Given the description of an element on the screen output the (x, y) to click on. 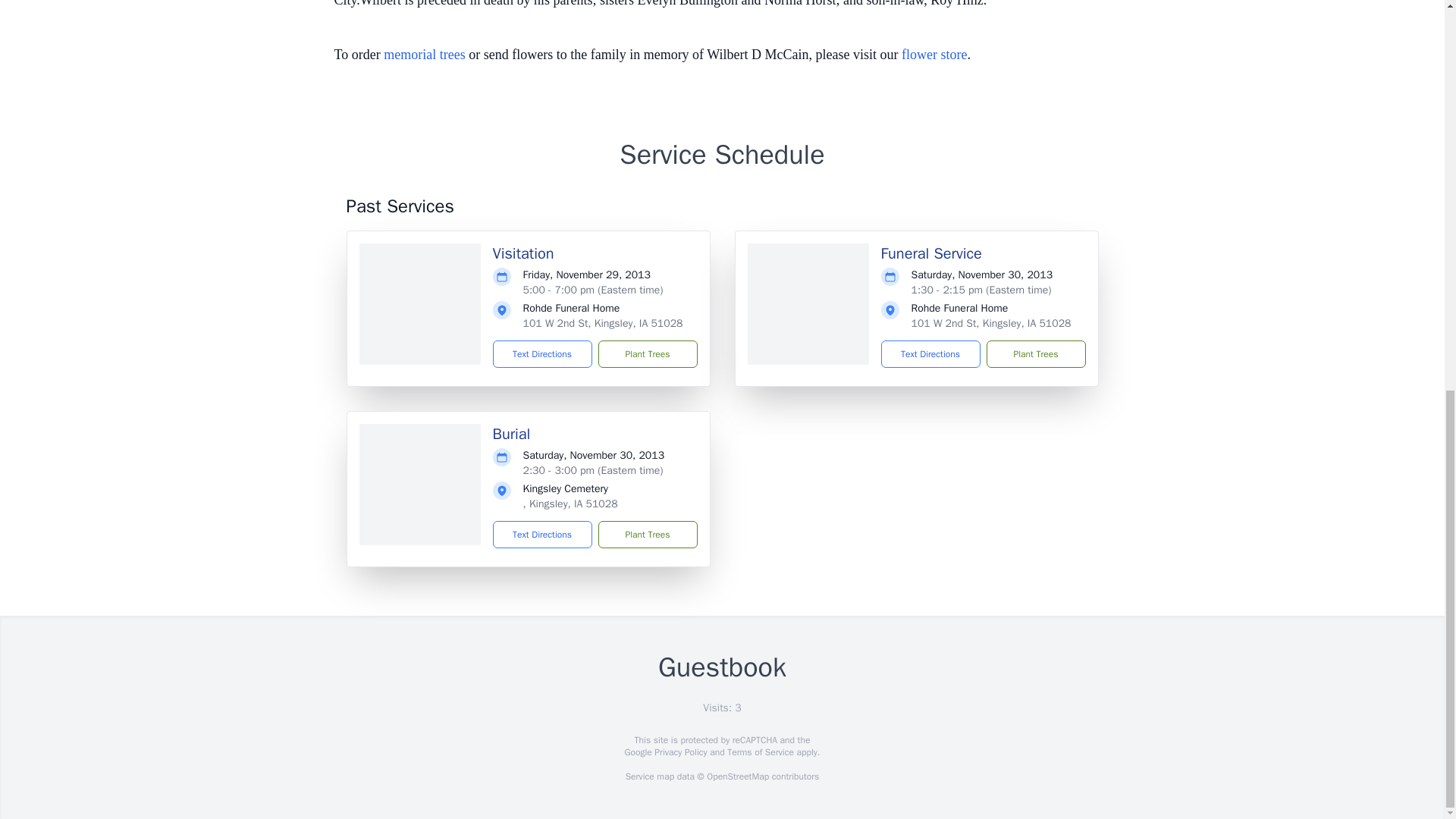
101 W 2nd St, Kingsley, IA 51028 (602, 323)
101 W 2nd St, Kingsley, IA 51028 (991, 323)
Text Directions (542, 533)
flower store (933, 54)
Privacy Policy (679, 752)
, Kingsley, IA 51028 (569, 503)
memorial trees (424, 54)
Terms of Service (759, 752)
Plant Trees (1034, 353)
Text Directions (542, 353)
